Given the description of an element on the screen output the (x, y) to click on. 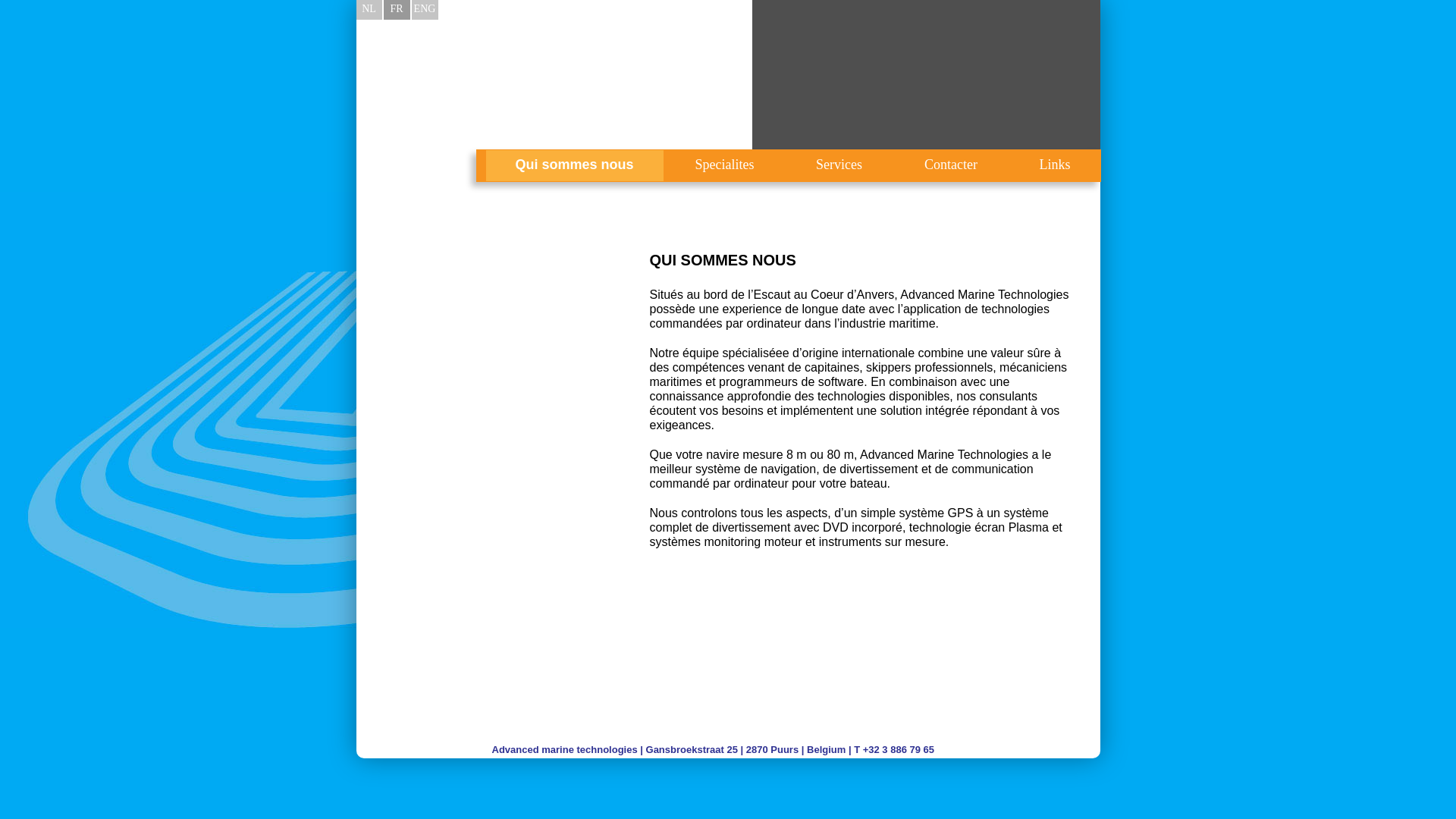
Contacter Element type: text (950, 165)
Qui sommes nous Element type: text (573, 165)
Specialites Element type: text (724, 165)
Services Element type: text (839, 165)
Links Element type: text (1054, 165)
